Given the description of an element on the screen output the (x, y) to click on. 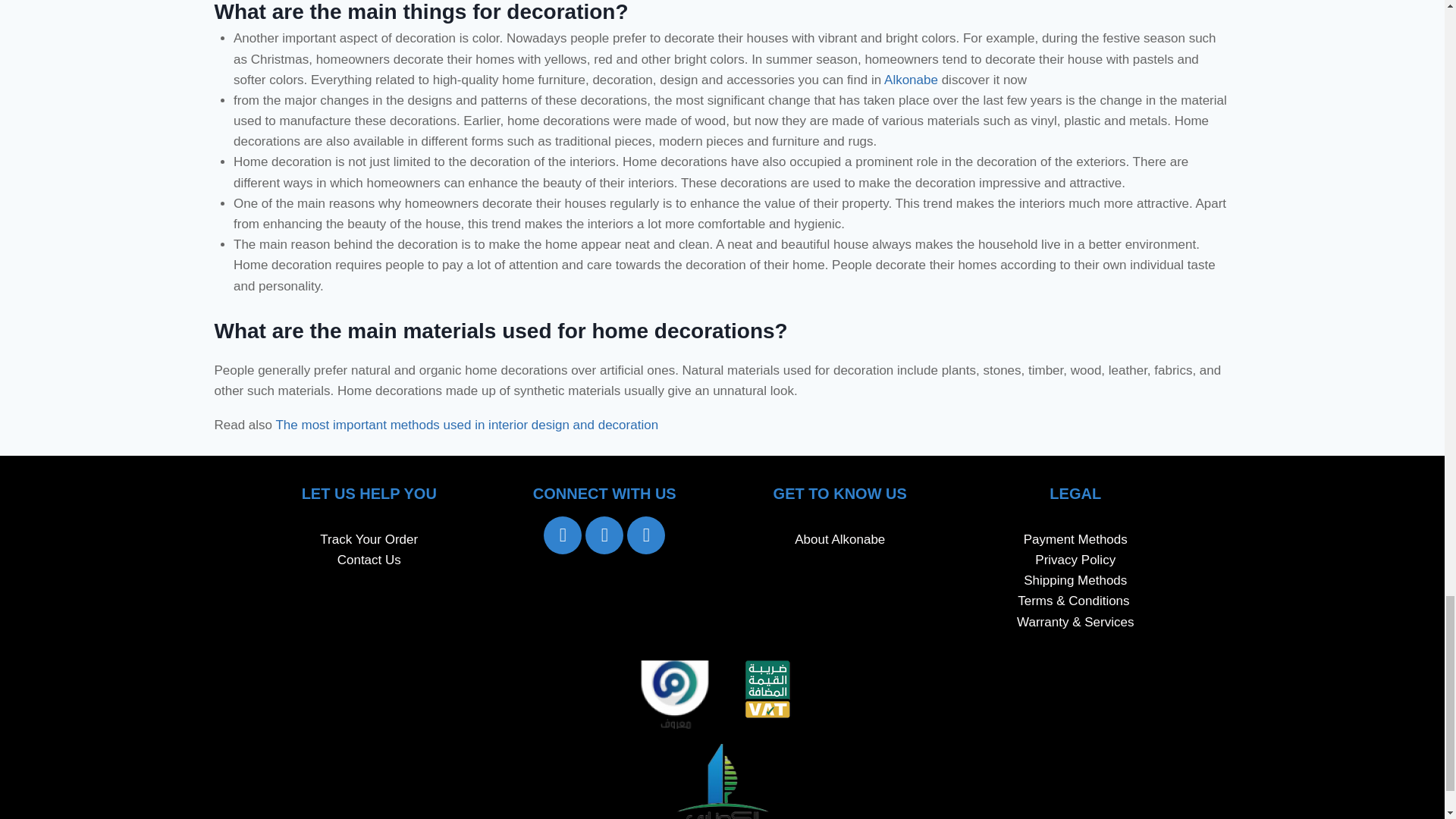
Alkonabe (910, 79)
Track Your Order (368, 539)
